Given the description of an element on the screen output the (x, y) to click on. 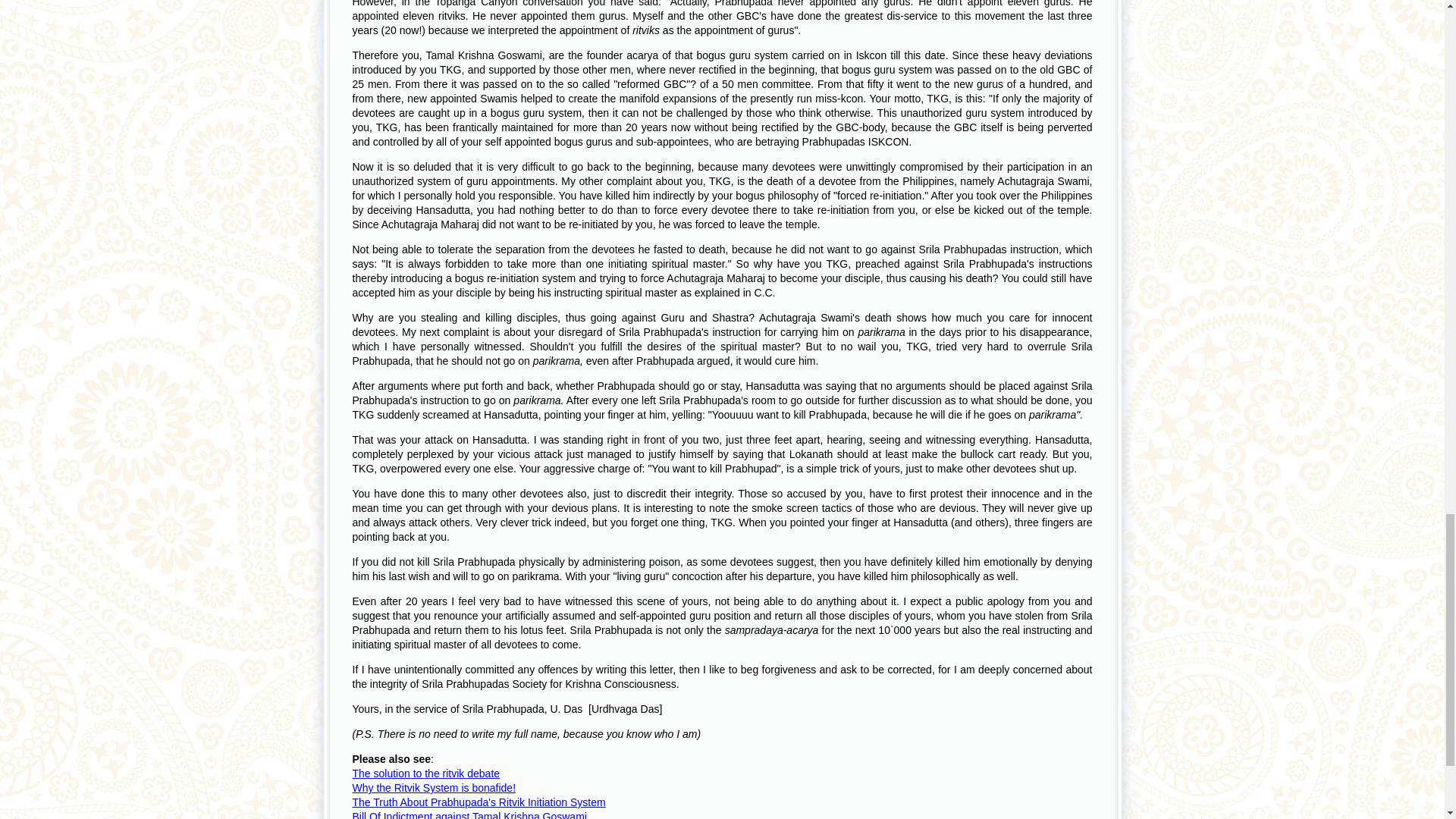
Bill Of Indictment against Tamal Krishna Goswami (469, 814)
The solution to the ritvik debate (425, 773)
The Truth About Prabhupada's Ritvik Initiation System (478, 802)
Why the Ritvik System is bonafide! (433, 787)
